Given the description of an element on the screen output the (x, y) to click on. 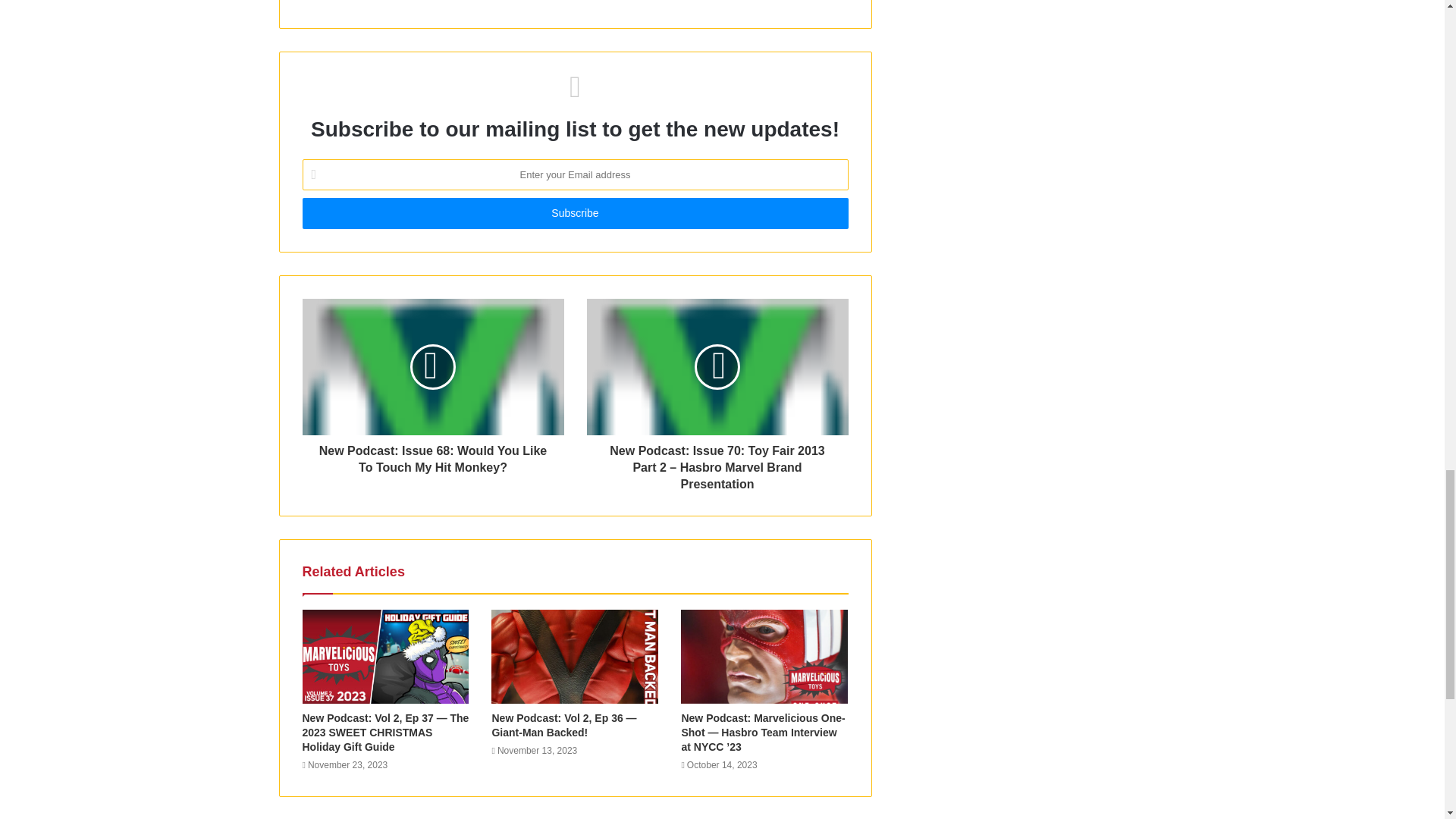
Subscribe (574, 213)
